Given the description of an element on the screen output the (x, y) to click on. 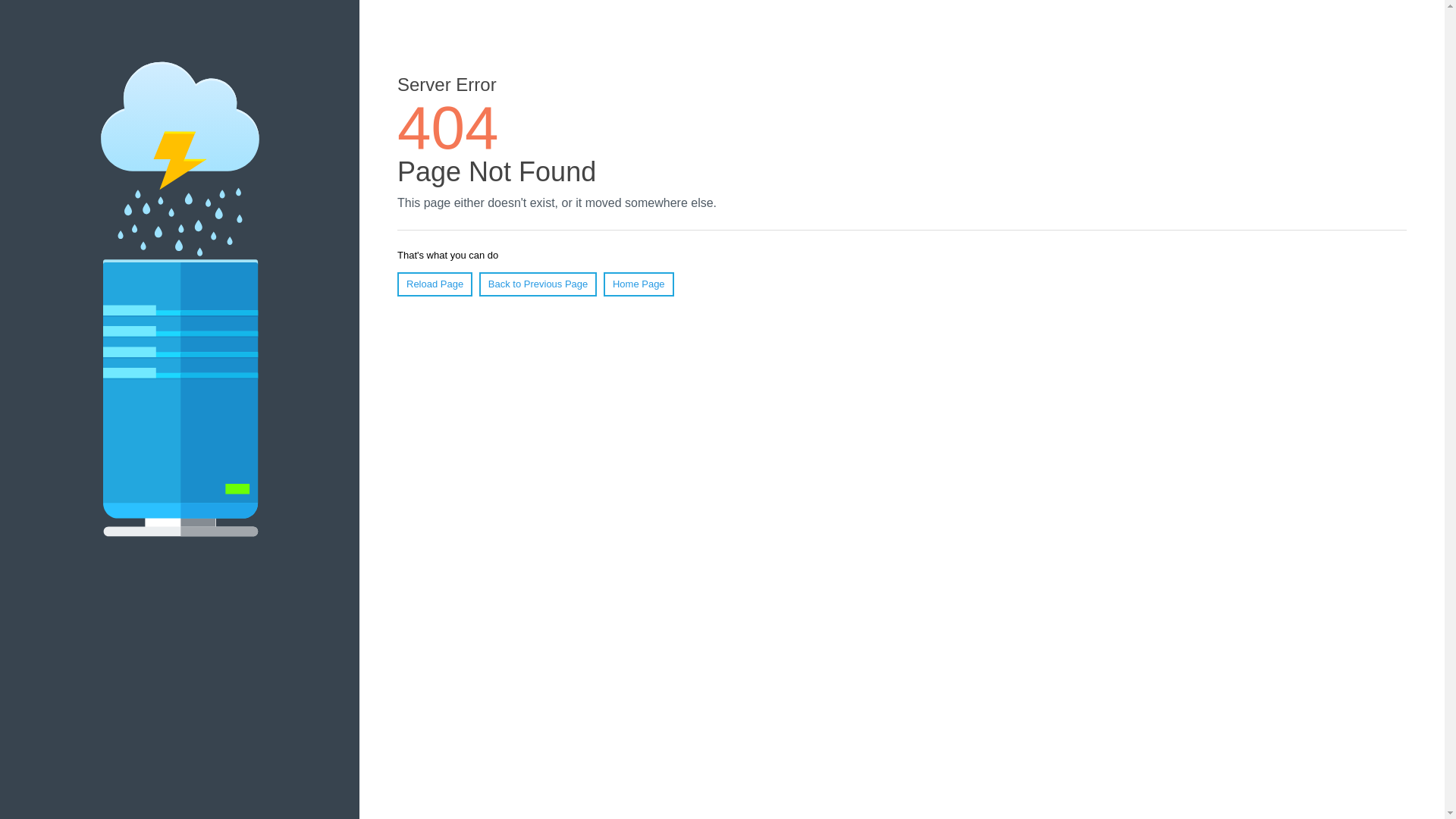
Reload Page Element type: text (434, 284)
Home Page Element type: text (638, 284)
Back to Previous Page Element type: text (538, 284)
